Given the description of an element on the screen output the (x, y) to click on. 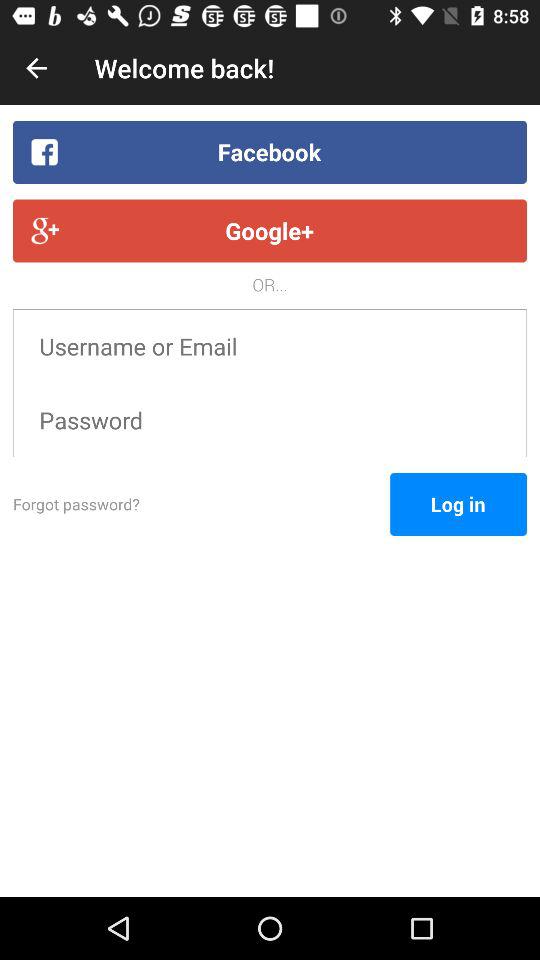
choose item above the or... item (269, 230)
